Given the description of an element on the screen output the (x, y) to click on. 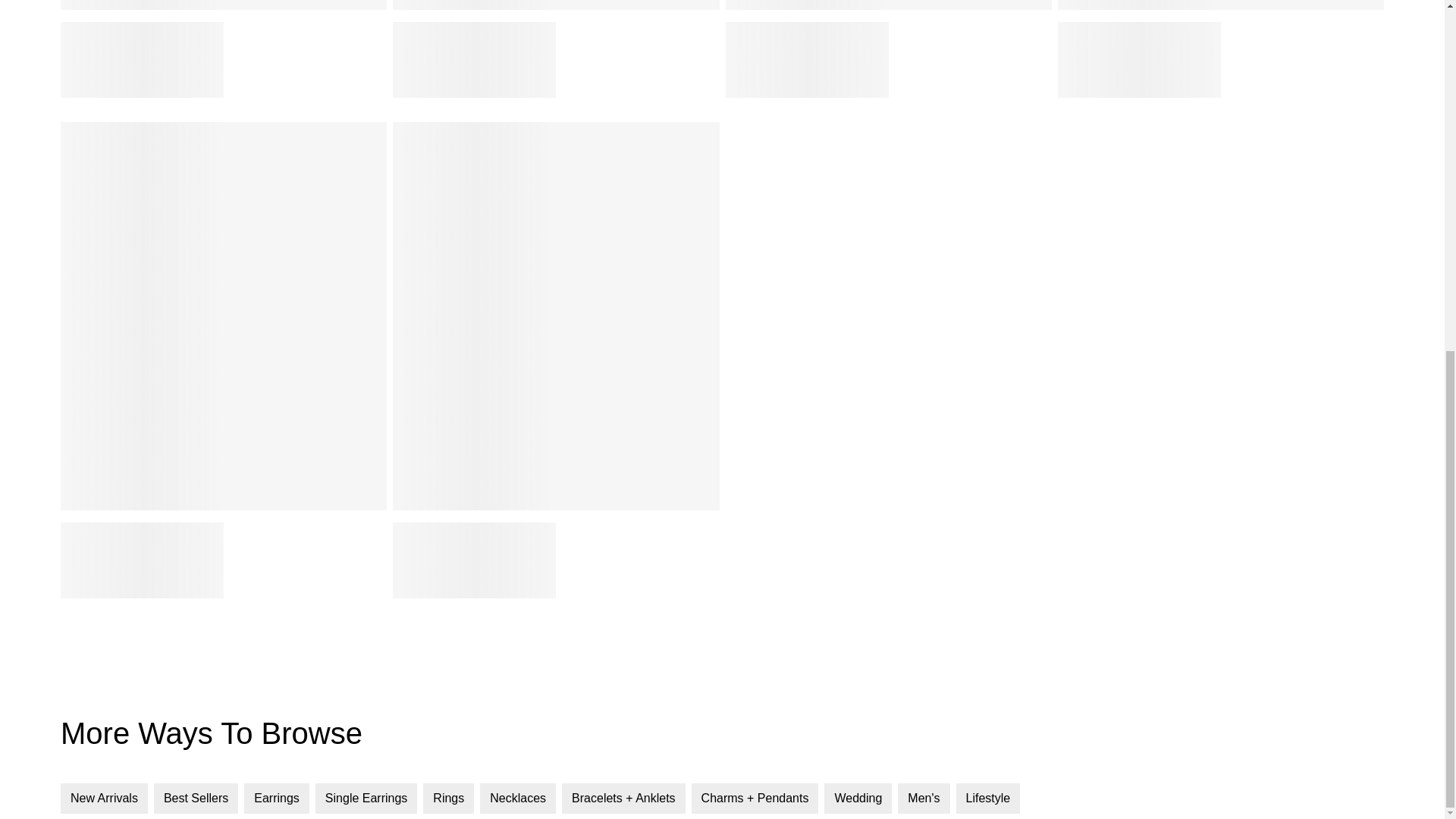
Best Sellers (196, 798)
New Arrivals (104, 798)
